Given the description of an element on the screen output the (x, y) to click on. 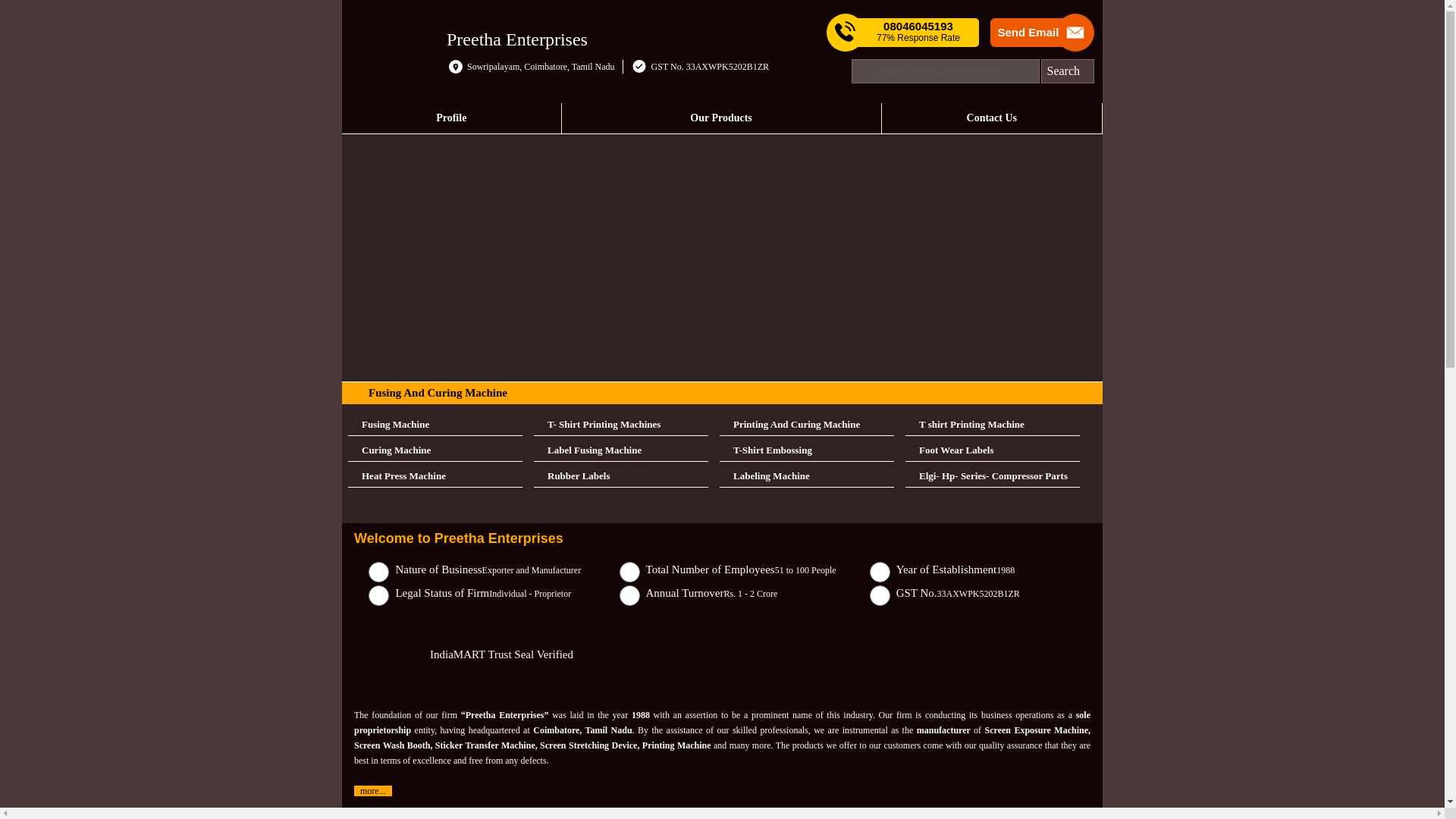
Fusing Machine (434, 424)
Printing And Curing Machine (806, 424)
T shirt Printing Machine (992, 424)
Curing Machine (434, 450)
Fusing And Curing Machine (437, 392)
Labeling Machine (806, 476)
T-Shirt Embossing (806, 450)
Send SMS Free (917, 32)
Rubber Labels (620, 476)
more... (372, 790)
Label Fusing Machine (620, 450)
T- Shirt Printing Machines (620, 424)
Foot Wear Labels (992, 450)
Heat Press Machine (434, 476)
Our Products (721, 118)
